Given the description of an element on the screen output the (x, y) to click on. 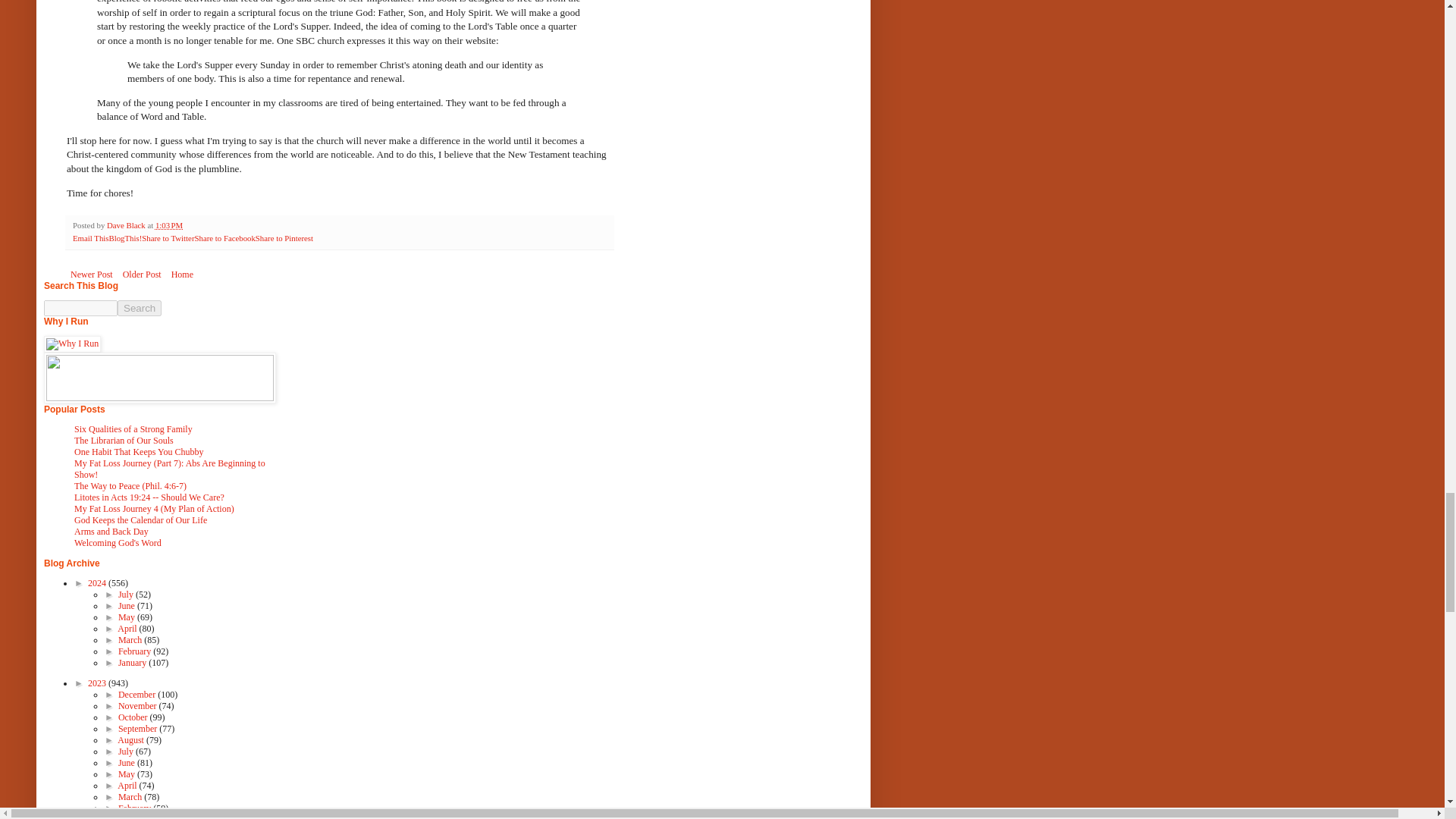
Share to Facebook (223, 237)
Share to Pinterest (284, 237)
Newer Post (91, 274)
author profile (126, 225)
search (139, 308)
Search (139, 308)
Welcoming God's Word (117, 542)
Arms and Back Day (111, 531)
Older Post (142, 274)
God Keeps the Calendar of Our Life (140, 520)
Litotes in Acts 19:24 -- Should We Care? (149, 497)
The Librarian of Our Souls (123, 439)
Email This (89, 237)
Share to Twitter (167, 237)
search (80, 308)
